Given the description of an element on the screen output the (x, y) to click on. 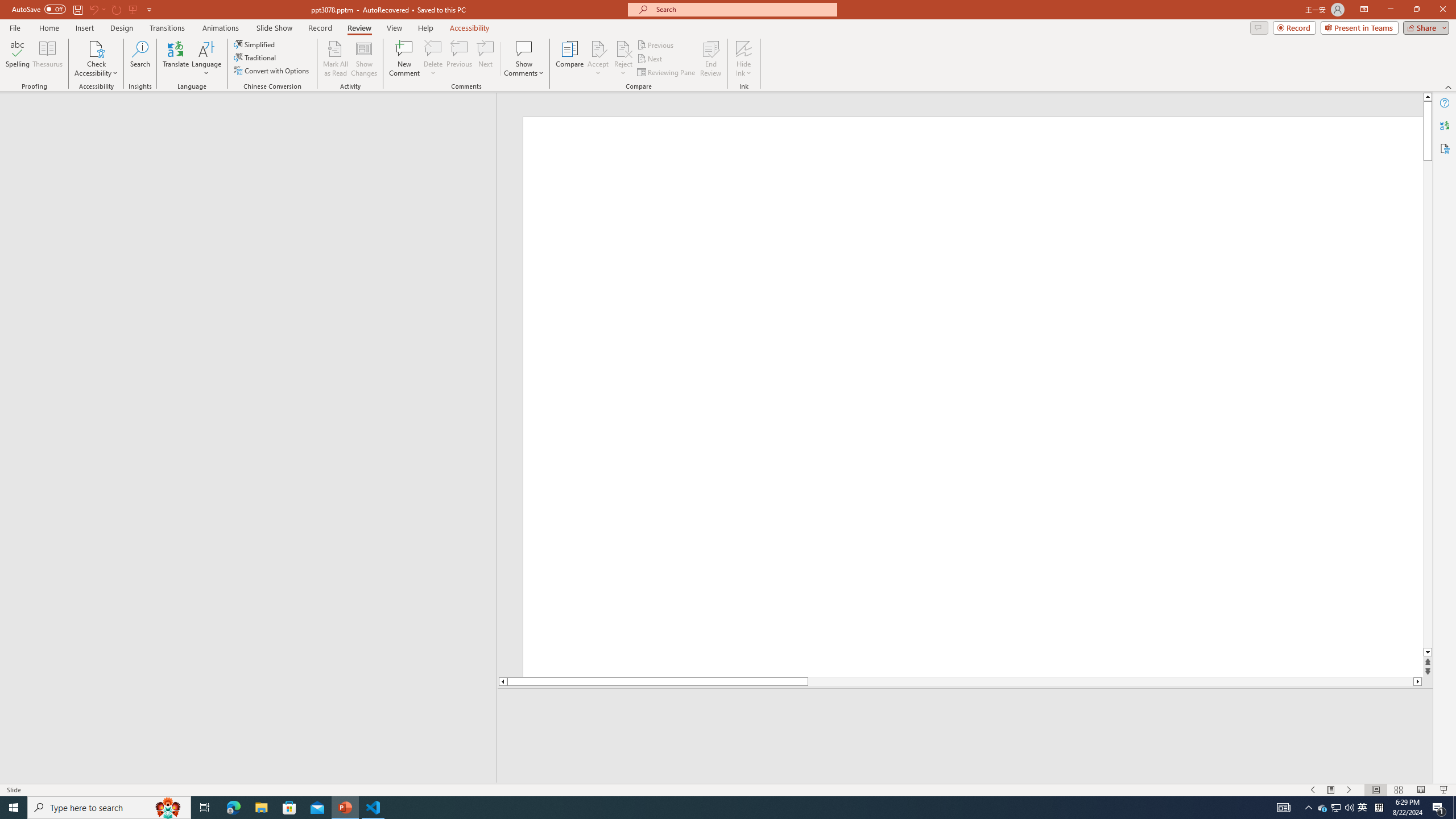
Translator (1444, 125)
Compare (569, 58)
Language (206, 58)
Slide Show Next On (1349, 790)
Check Accessibility (95, 58)
Slide Show Previous On (1313, 790)
Show Changes (363, 58)
Rectangle (242, 437)
